Given the description of an element on the screen output the (x, y) to click on. 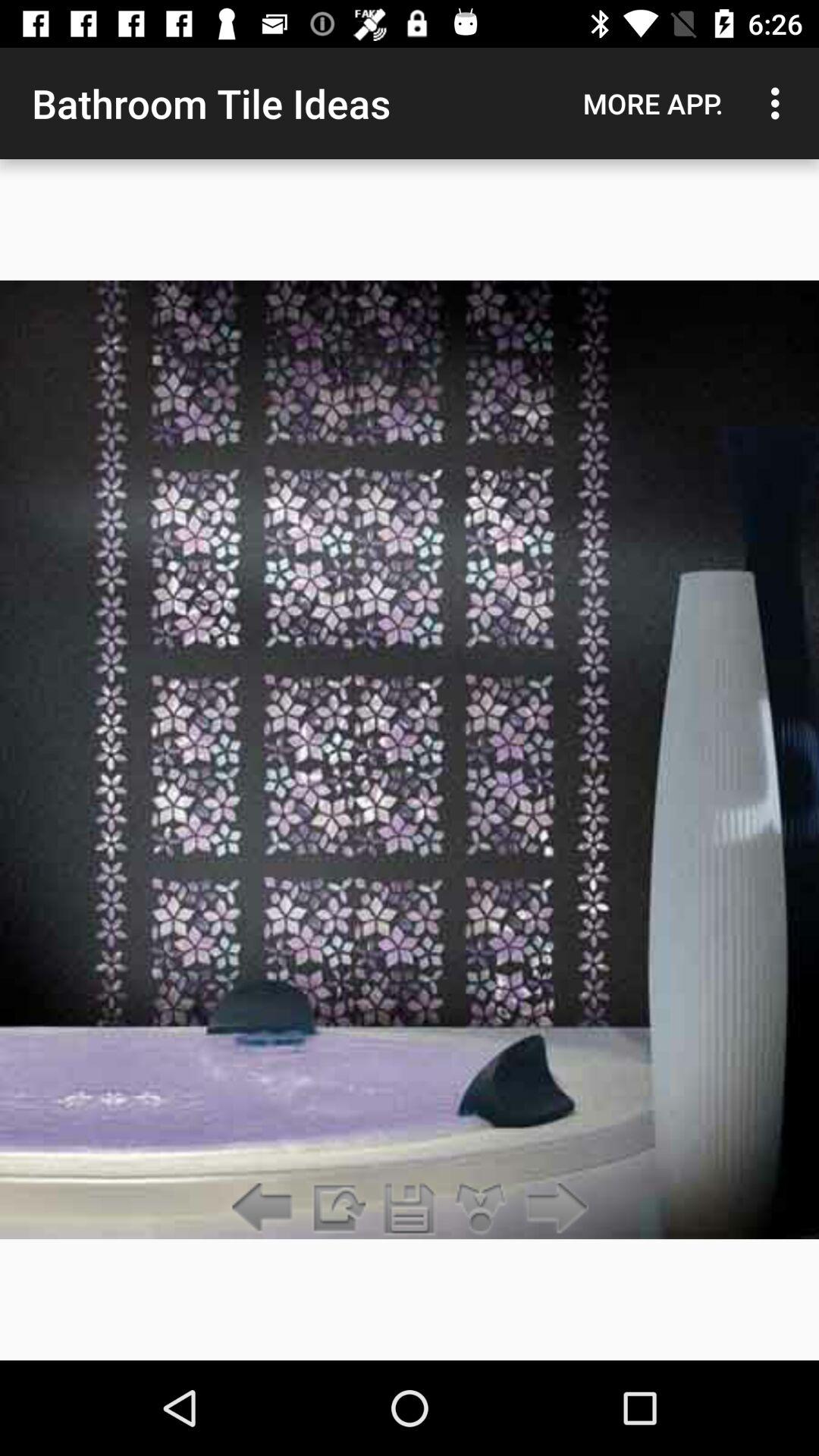
click the app next to the bathroom tile ideas (653, 103)
